Given the description of an element on the screen output the (x, y) to click on. 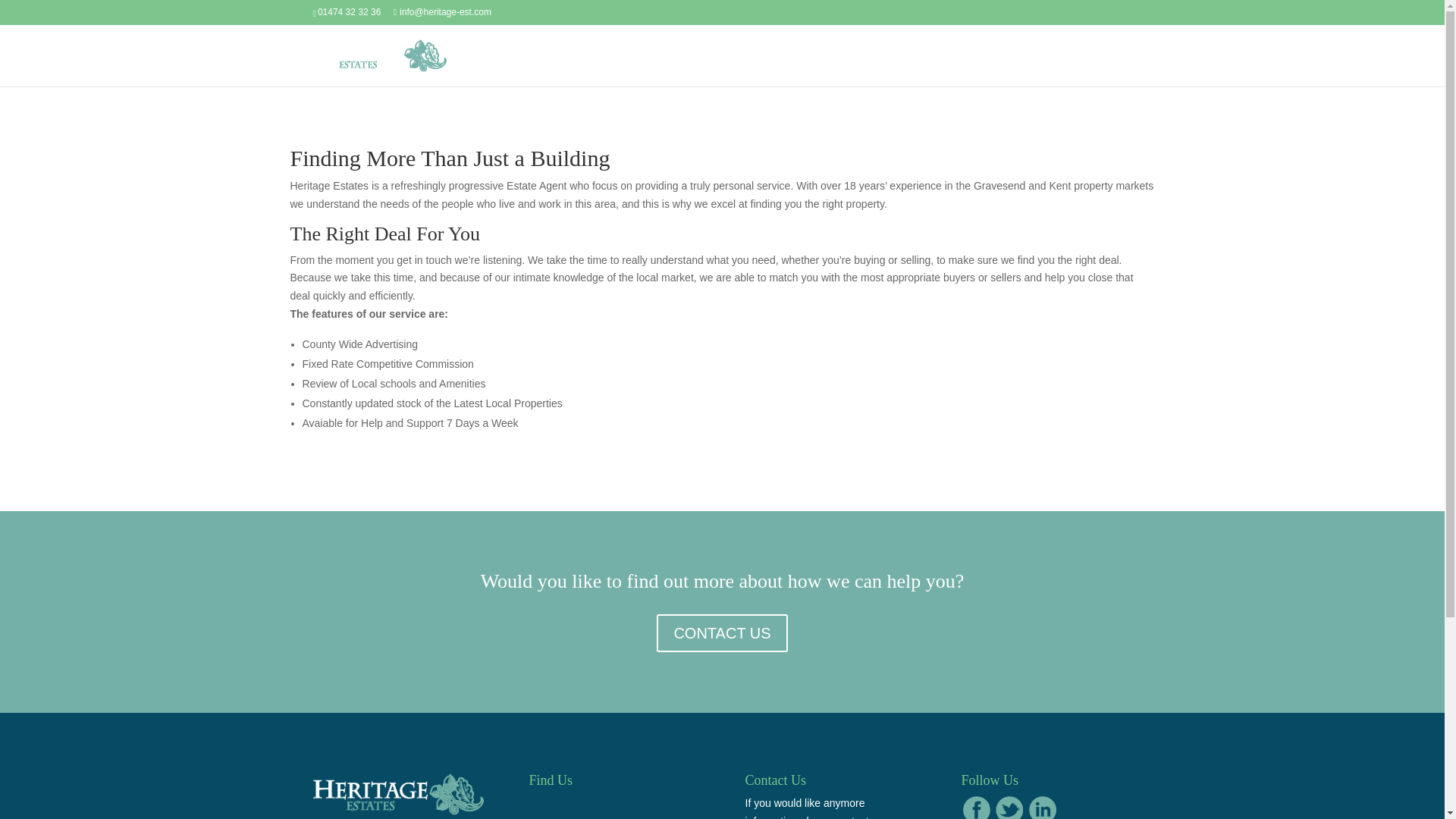
About Us (896, 66)
Services (959, 66)
Property Search (1036, 66)
CONTACT US (721, 632)
Contact (1112, 66)
